Given the description of an element on the screen output the (x, y) to click on. 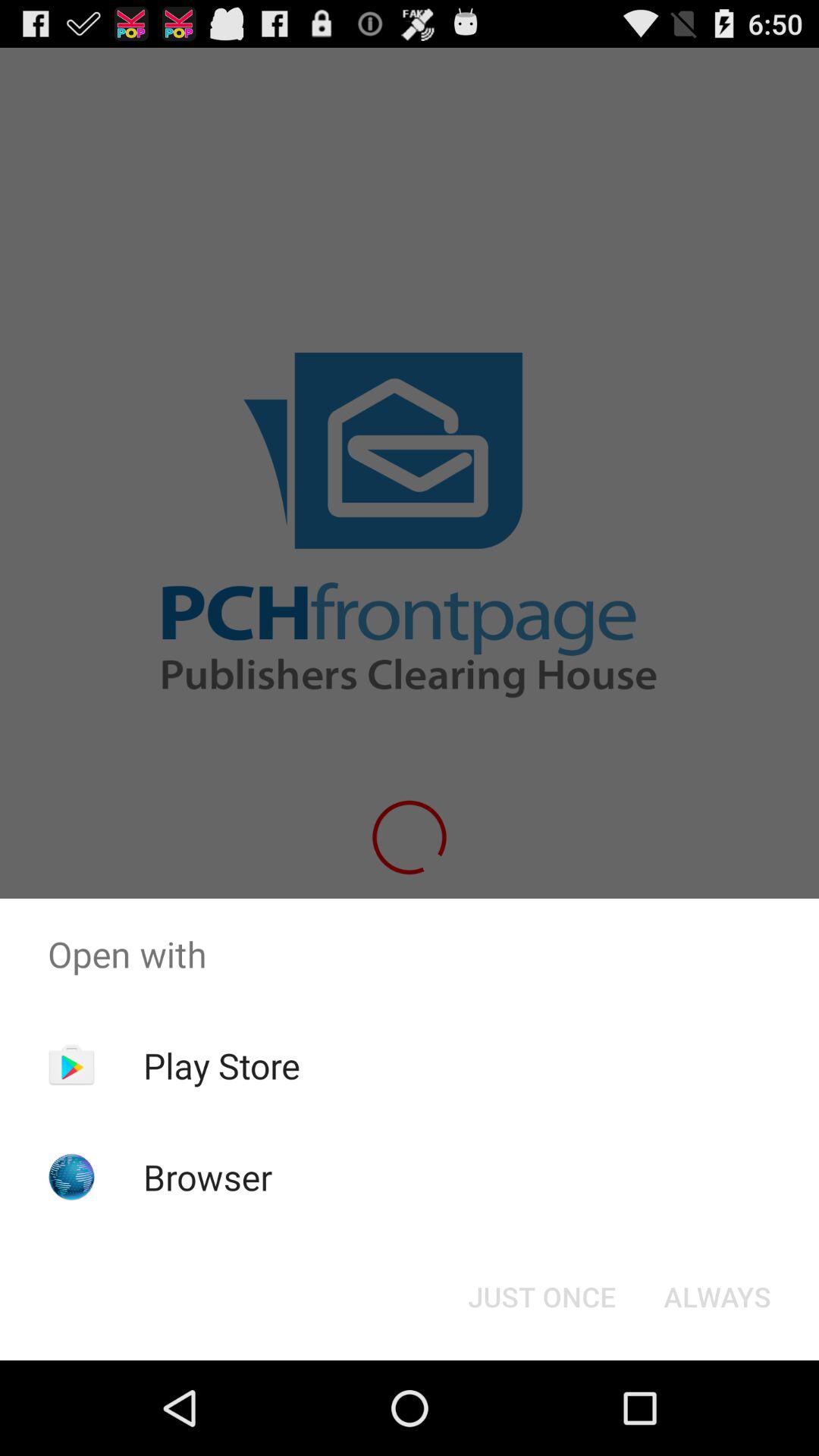
tap the icon next to always item (541, 1296)
